Given the description of an element on the screen output the (x, y) to click on. 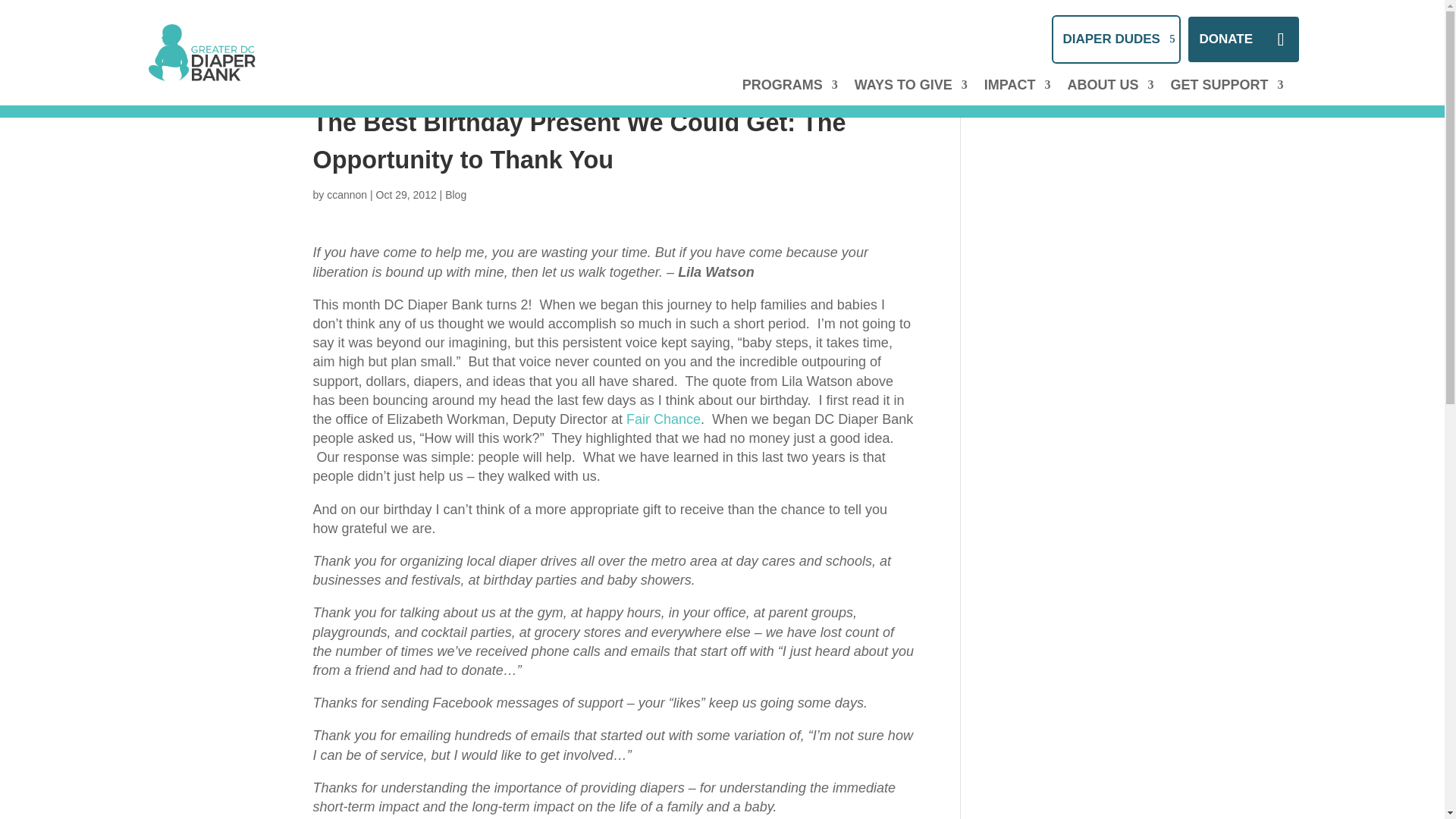
ccannon (346, 194)
DIAPER DUDES (1115, 39)
WAYS TO GIVE (911, 97)
DONATE (1243, 39)
PROGRAMS (790, 97)
GET SUPPORT (1226, 97)
IMPACT (1017, 97)
ABOUT US (1110, 97)
Posts by ccannon (346, 194)
Fair Chance (663, 418)
Blog (455, 194)
